Given the description of an element on the screen output the (x, y) to click on. 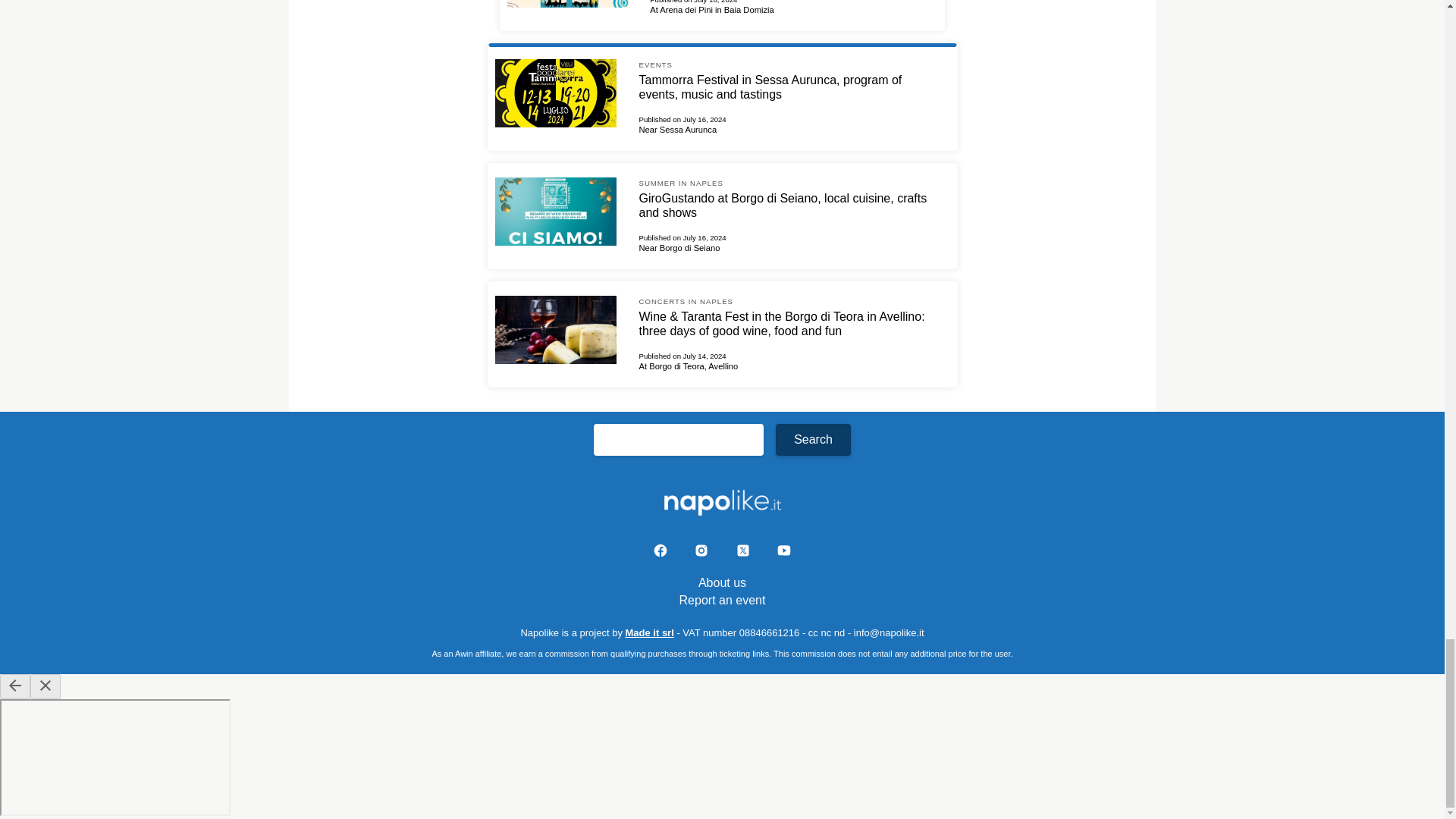
Search (813, 439)
